Given the description of an element on the screen output the (x, y) to click on. 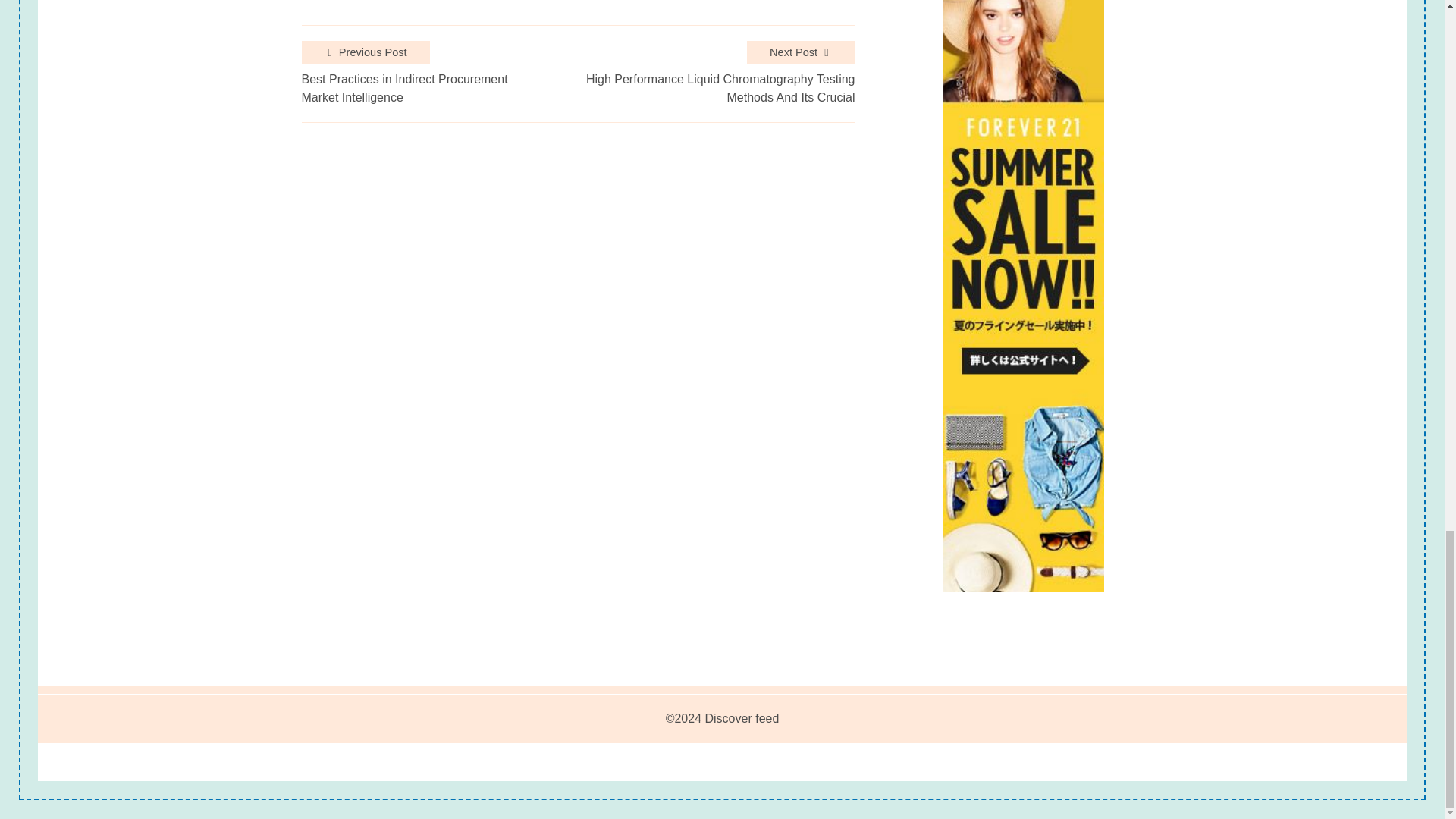
Best Practices in Indirect Procurement Market Intelligence (422, 88)
Next Post (800, 52)
Previous Post (365, 52)
